Given the description of an element on the screen output the (x, y) to click on. 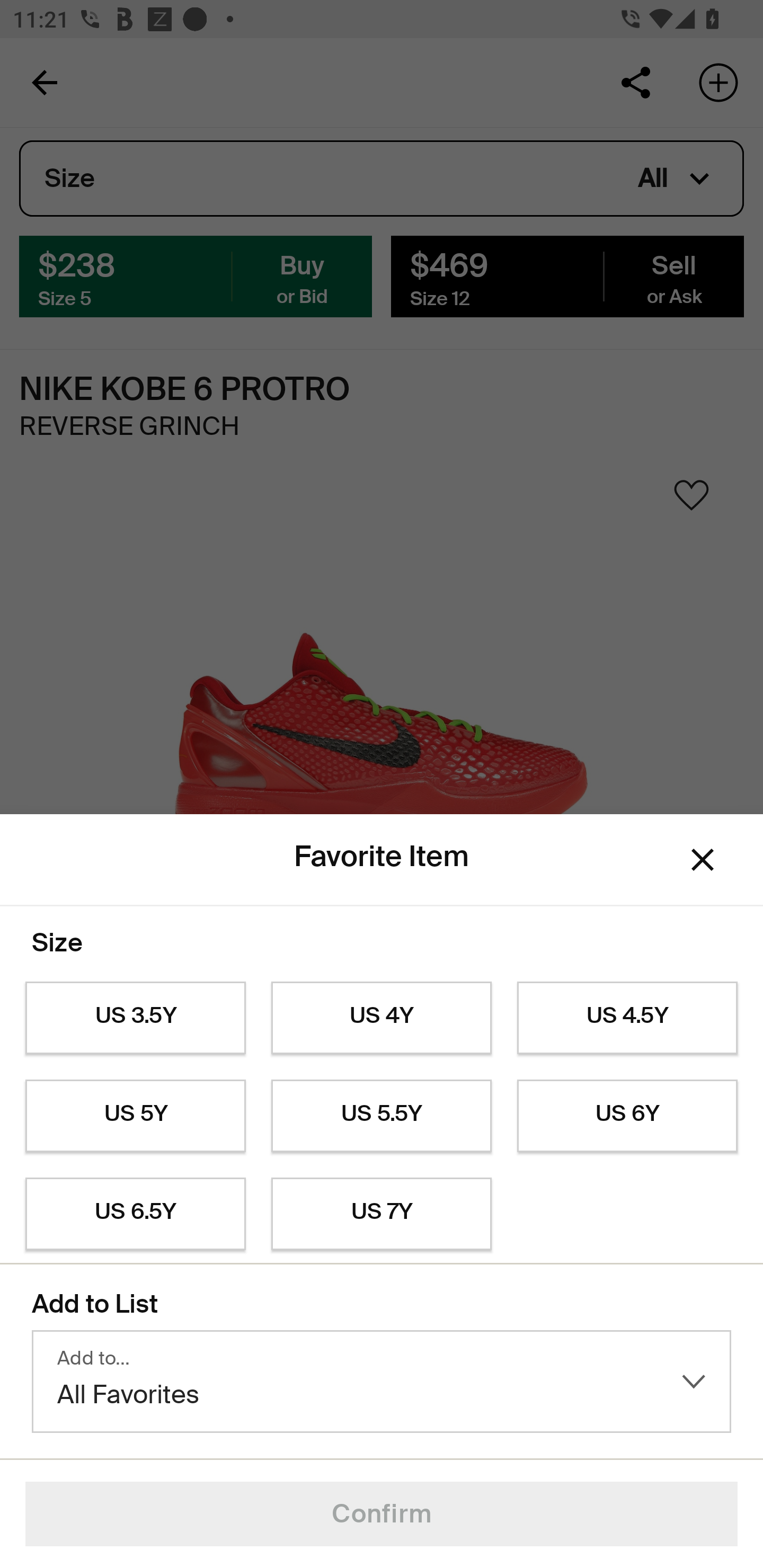
Dismiss (702, 859)
US 3.5Y (135, 1018)
US 4Y (381, 1018)
US 4.5Y (627, 1018)
US 5Y (135, 1116)
US 5.5Y (381, 1116)
US 6Y (627, 1116)
US 6.5Y (135, 1214)
US 7Y (381, 1214)
Add to… All Favorites (381, 1381)
Confirm (381, 1513)
